Given the description of an element on the screen output the (x, y) to click on. 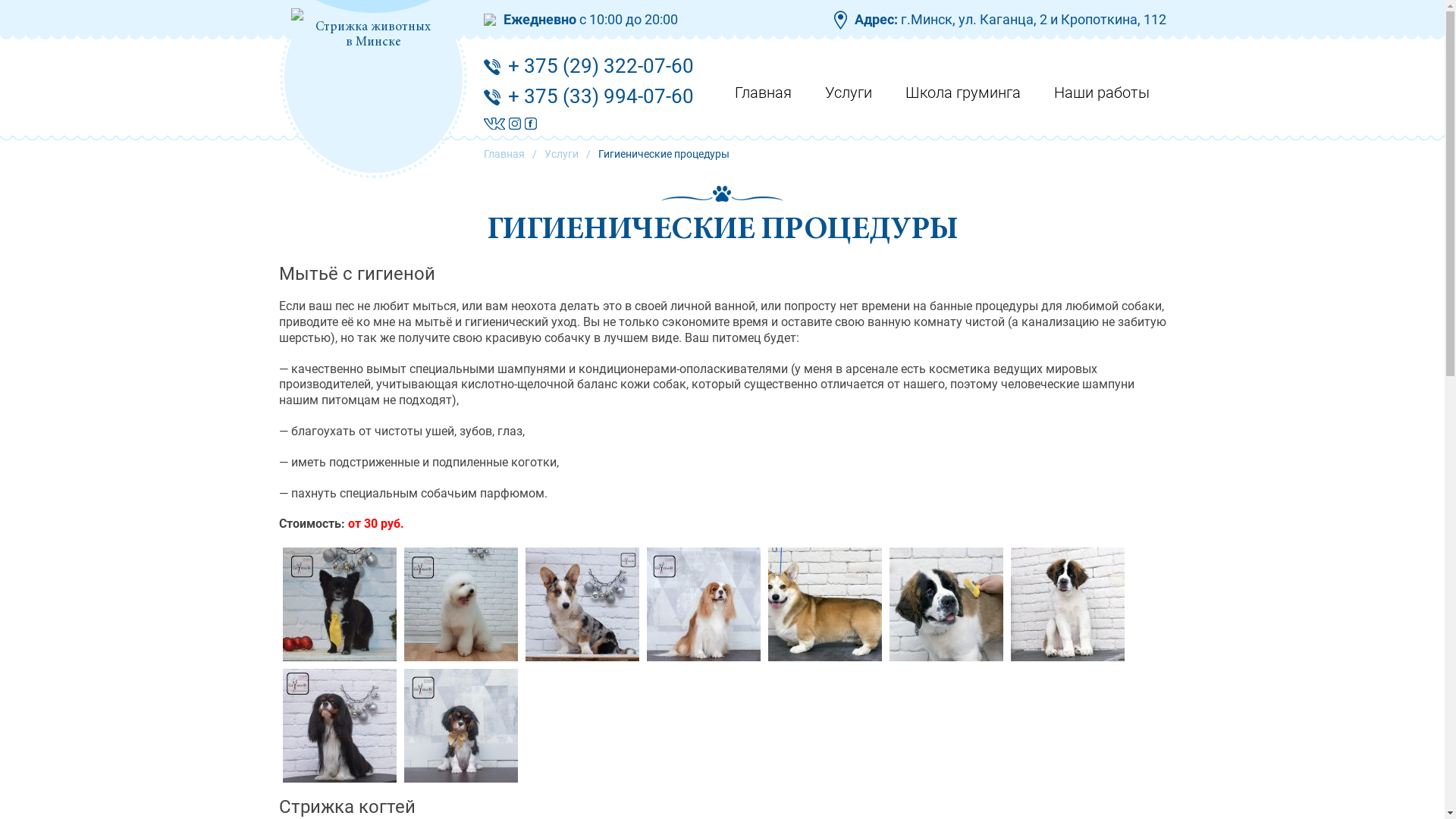
+ 375 (33) 994-07-60 Element type: text (600, 95)
+ 375 (29) 322-07-60 Element type: text (600, 65)
